Given the description of an element on the screen output the (x, y) to click on. 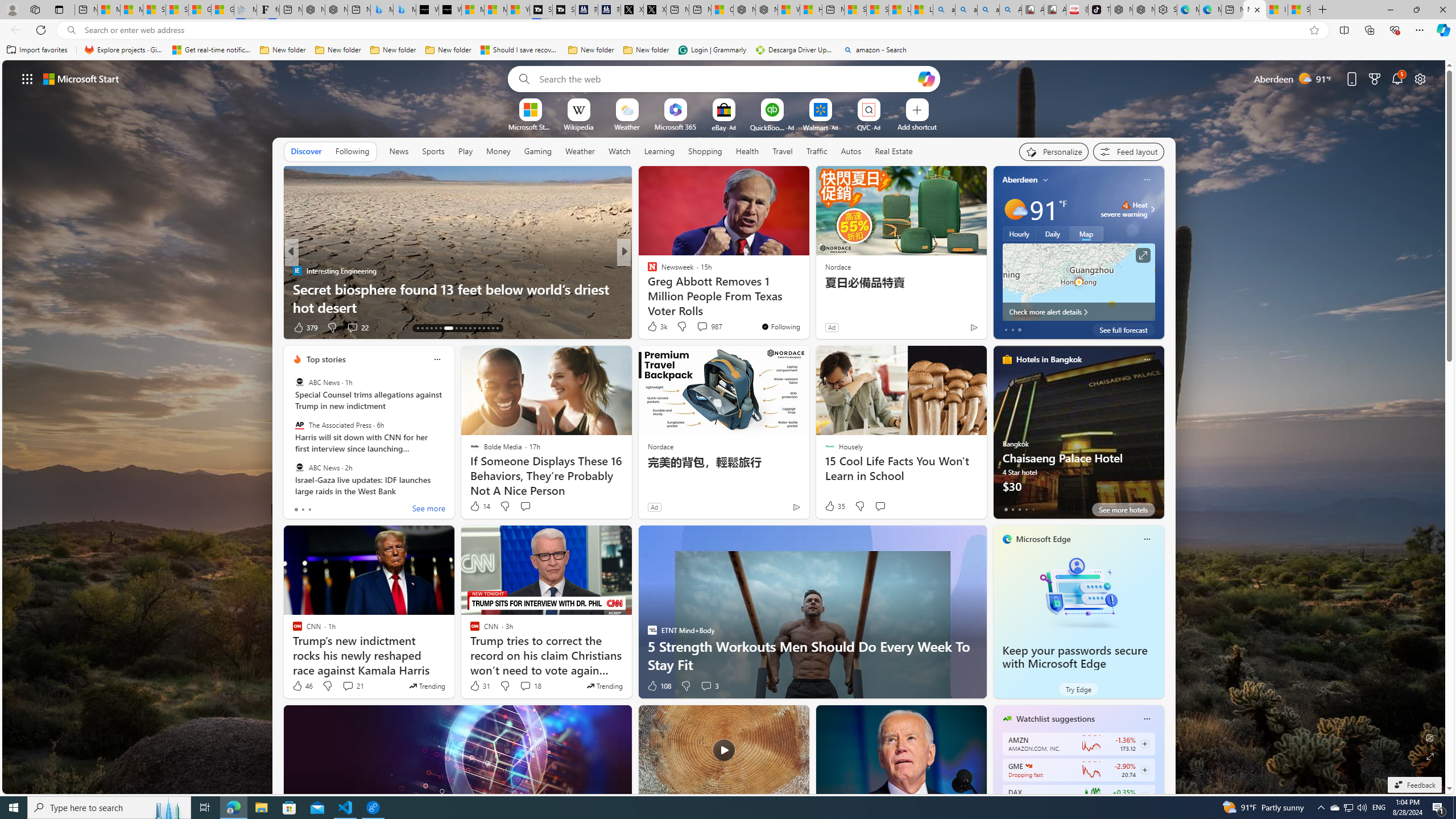
AutomationID: tab-28 (492, 328)
Nordace Siena Pro 15 Backpack (1143, 9)
Class: weather-arrow-glyph (1152, 208)
202 Like (654, 327)
AutomationID: backgroundImagePicture (723, 426)
45 Like (652, 327)
